Given the description of an element on the screen output the (x, y) to click on. 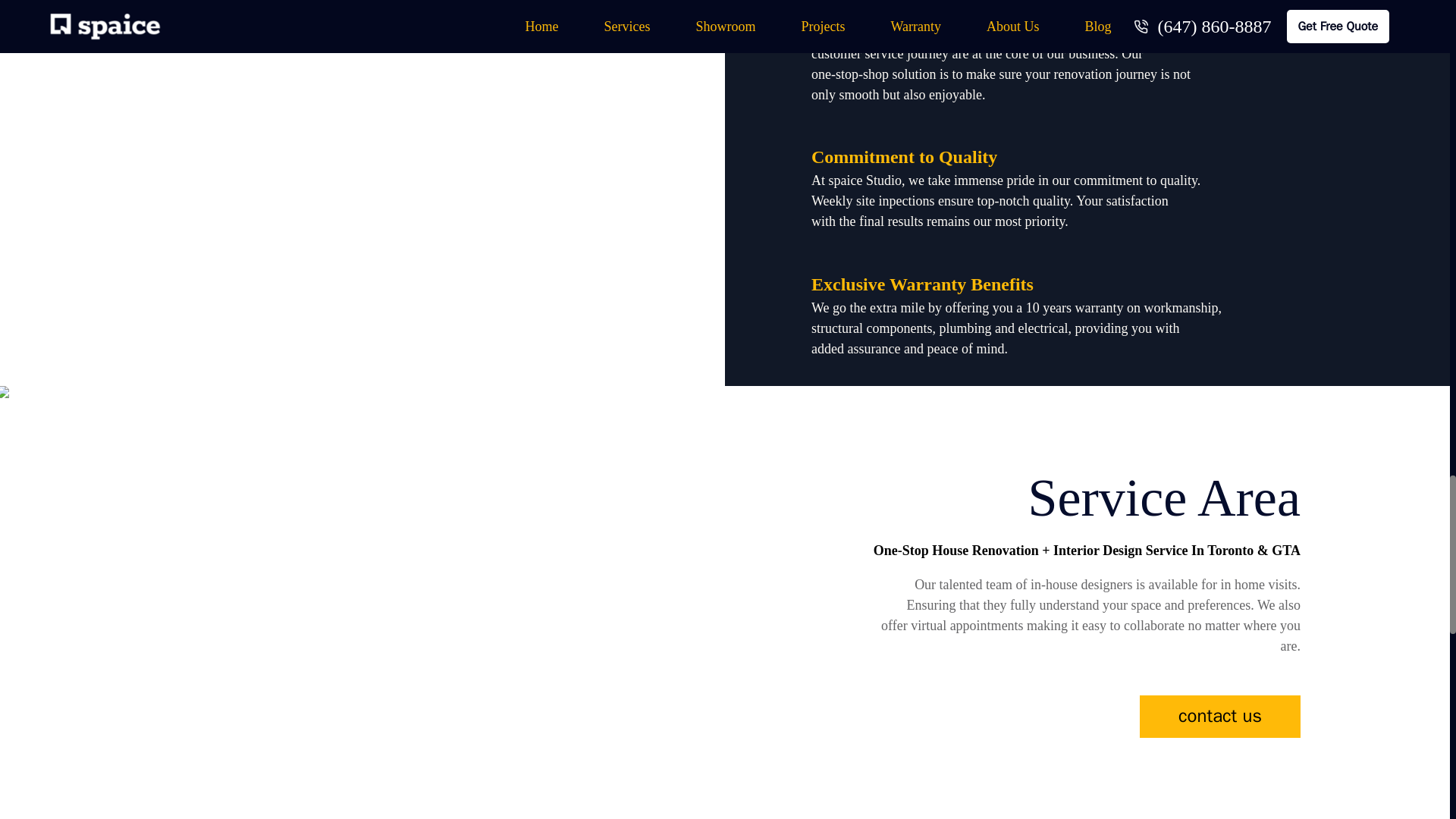
contact us (1220, 716)
